Given the description of an element on the screen output the (x, y) to click on. 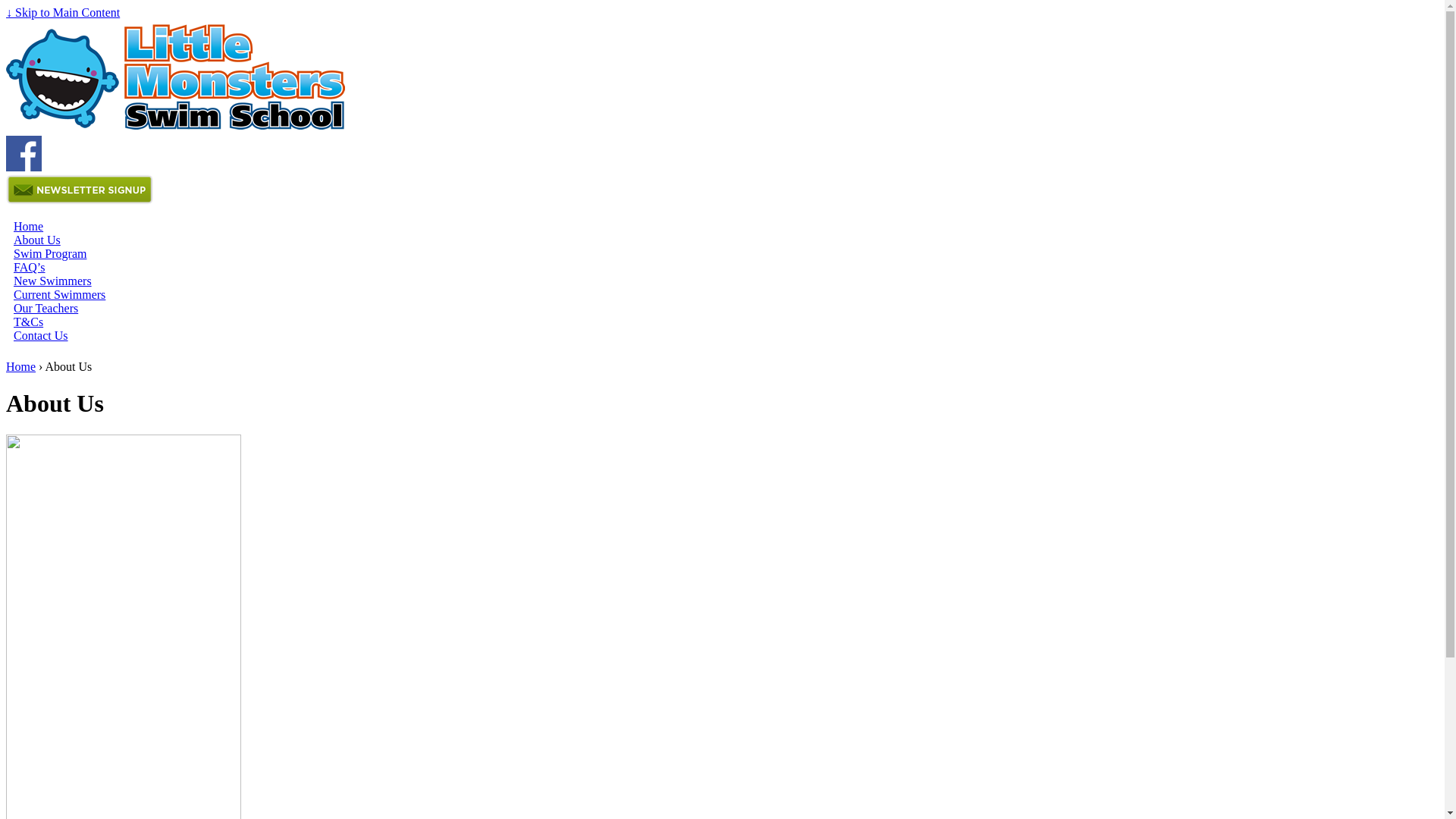
New Swimmers Element type: text (52, 280)
Contact Us Element type: text (40, 335)
Home Element type: text (28, 226)
Our Teachers Element type: text (45, 308)
Current Swimmers Element type: text (59, 294)
About Us Element type: text (37, 239)
Swim Program Element type: text (50, 253)
Home Element type: text (20, 366)
T&Cs Element type: text (28, 321)
